Given the description of an element on the screen output the (x, y) to click on. 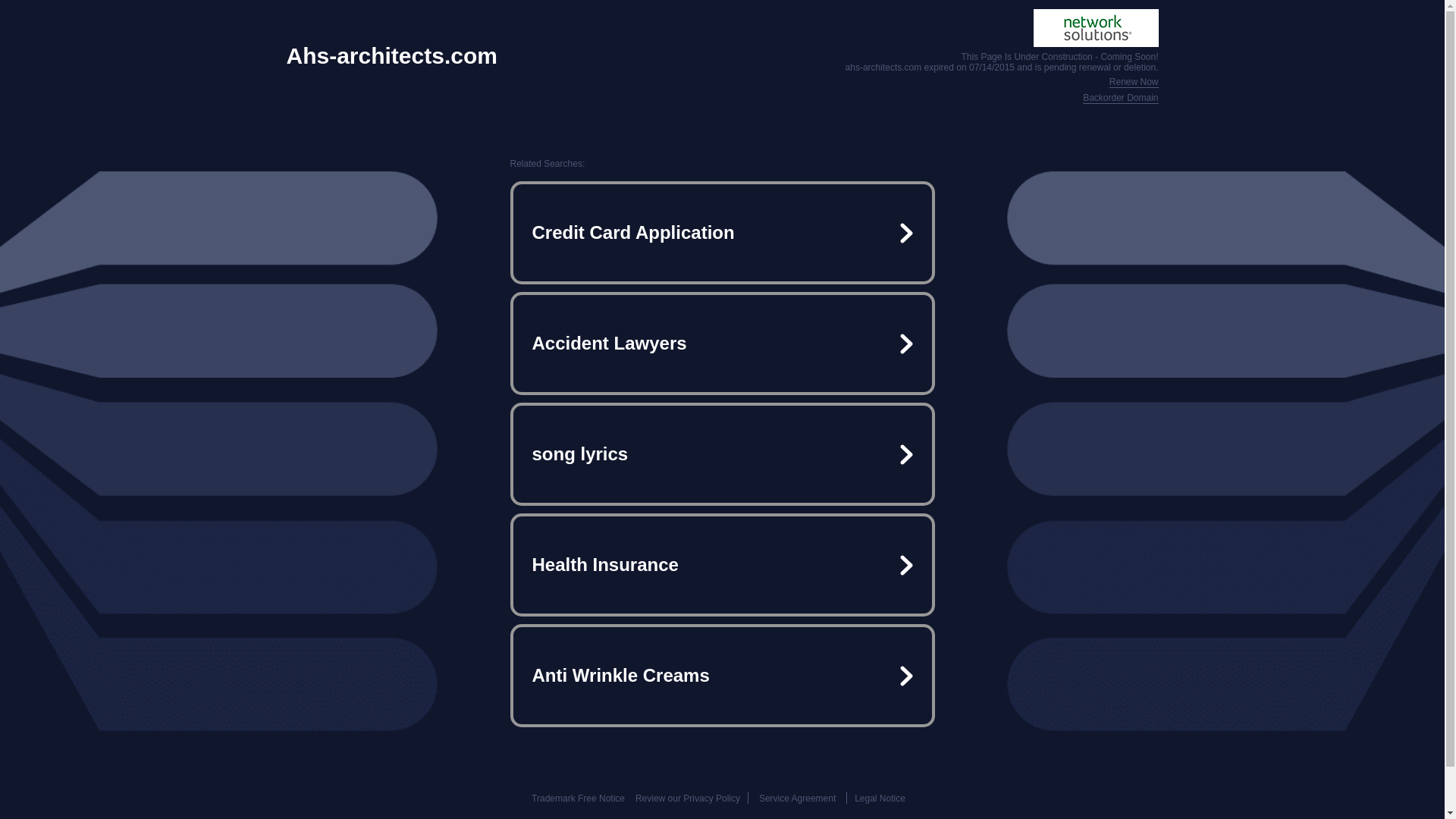
Ahs-architects.com (391, 55)
Trademark Free Notice (577, 798)
Legal Notice (879, 798)
Accident Lawyers (721, 343)
Renew Now (1133, 81)
Anti Wrinkle Creams (721, 675)
song lyrics (721, 453)
Accident Lawyers (721, 343)
Anti Wrinkle Creams (721, 675)
Credit Card Application (721, 232)
